Given the description of an element on the screen output the (x, y) to click on. 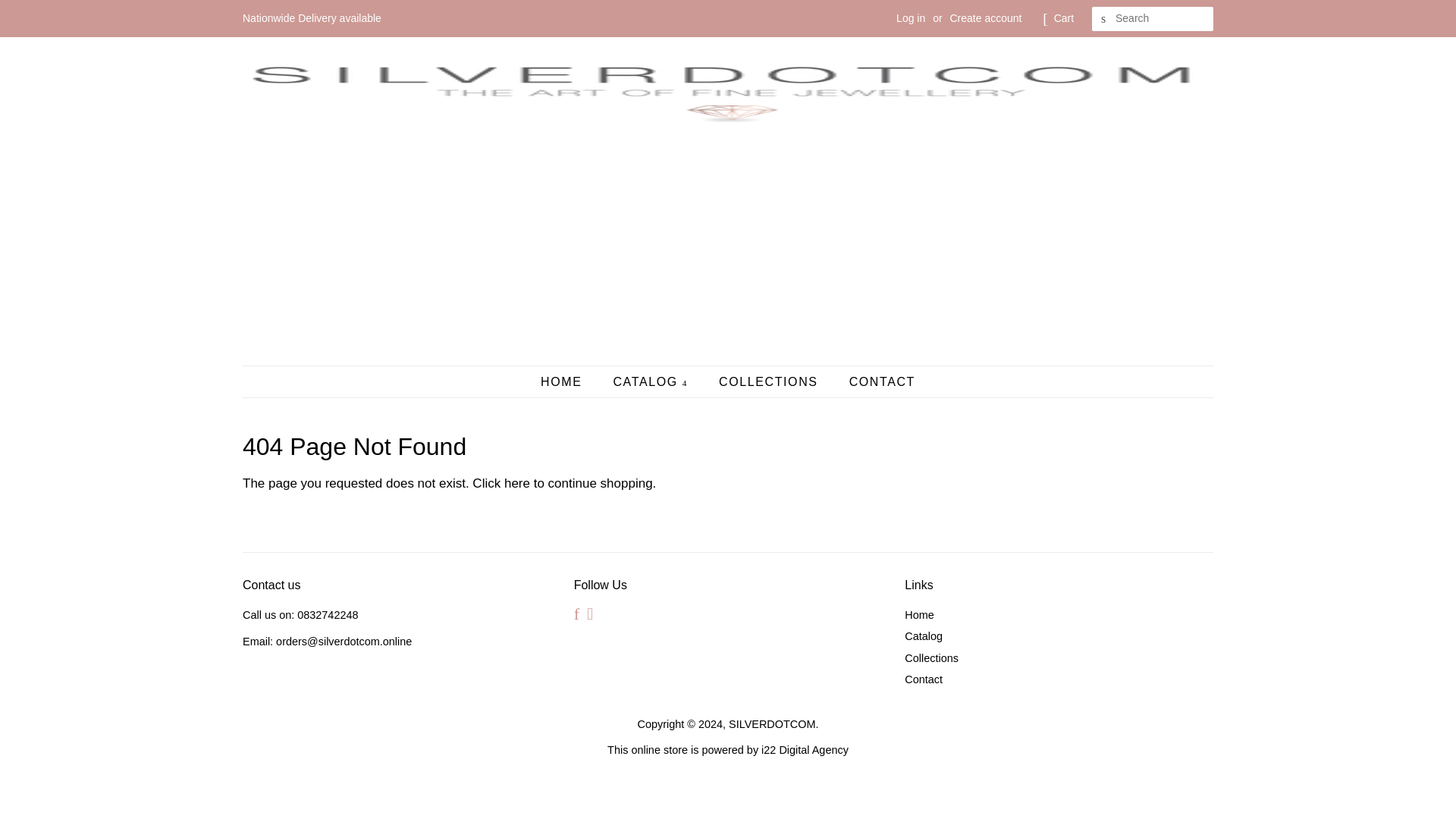
HOME (568, 381)
Log in (910, 18)
Cart (1064, 18)
CATALOG (652, 381)
Create account (985, 18)
SEARCH (1104, 18)
